Given the description of an element on the screen output the (x, y) to click on. 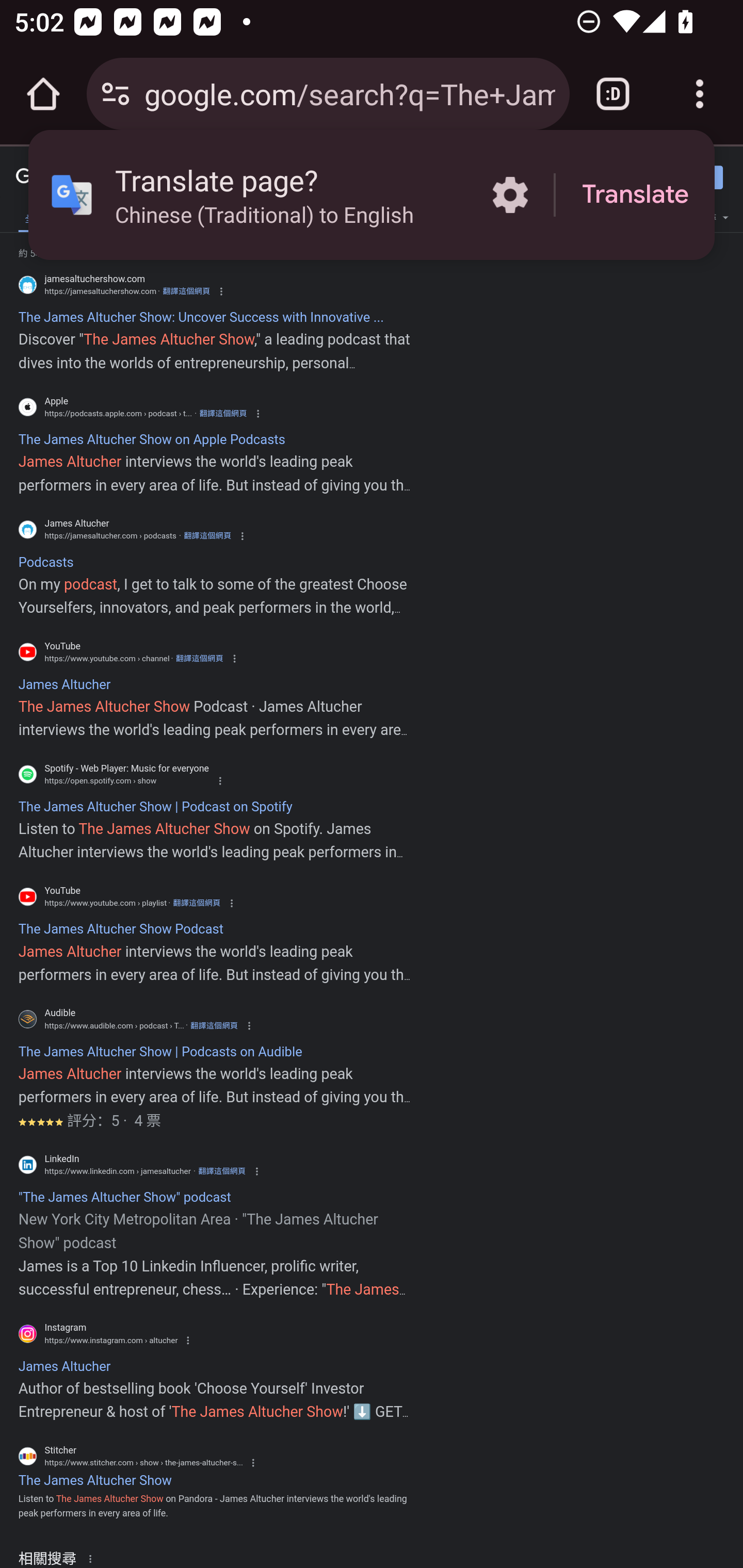
Open the home page (43, 93)
Connection is secure (115, 93)
Switch or close tabs (612, 93)
Customize and control Google Chrome (699, 93)
Translate (634, 195)
More options in the Translate page? (509, 195)
翻譯這個網頁 (185, 291)
翻譯這個網頁 (223, 413)
翻譯這個網頁 (207, 535)
翻譯這個網頁 (199, 658)
翻譯這個網頁 (196, 902)
翻譯這個網頁 (213, 1025)
翻譯這個網頁 (221, 1171)
關於此結果 (93, 1557)
